Given the description of an element on the screen output the (x, y) to click on. 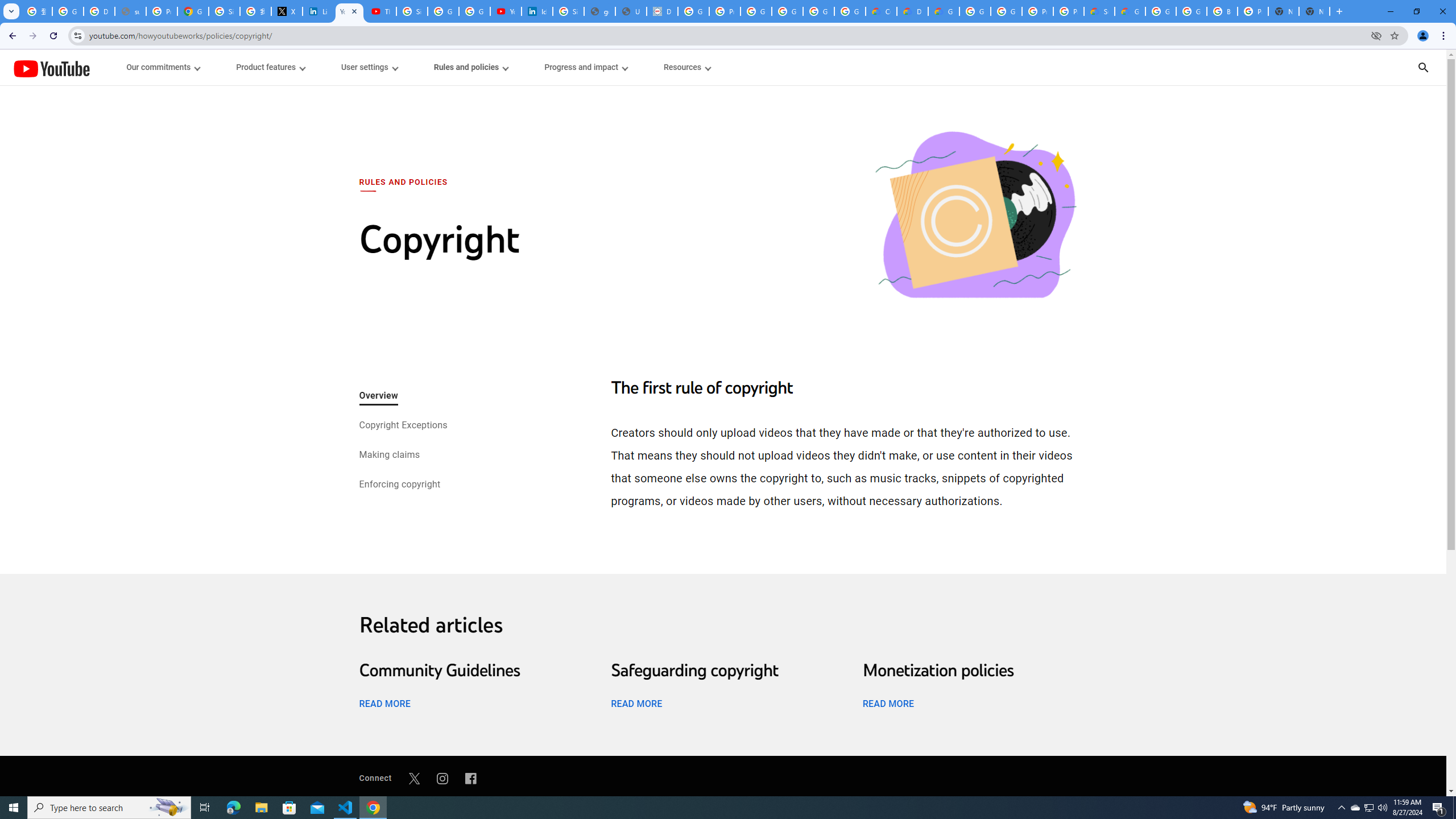
View site information (77, 35)
Google Cloud Platform (974, 11)
Enforcing copyright (399, 484)
Search (1438, 67)
Address and search bar (726, 35)
Restore (1416, 11)
READ MORE (887, 703)
google_privacy_policy_en.pdf (599, 11)
Reload (52, 35)
Customer Care | Google Cloud (881, 11)
Search tabs (10, 11)
